Given the description of an element on the screen output the (x, y) to click on. 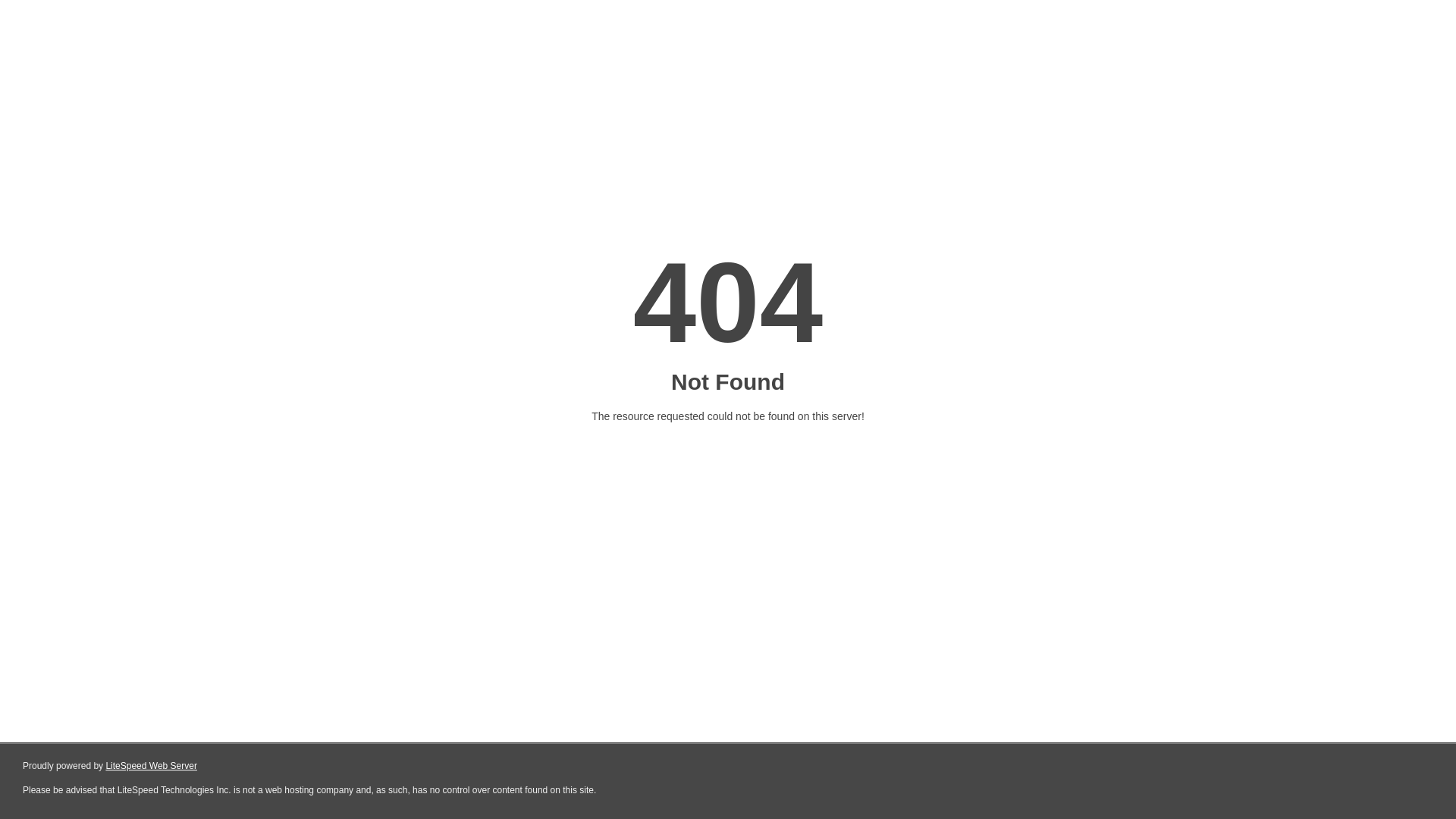
LiteSpeed Web Server Element type: text (151, 765)
